Given the description of an element on the screen output the (x, y) to click on. 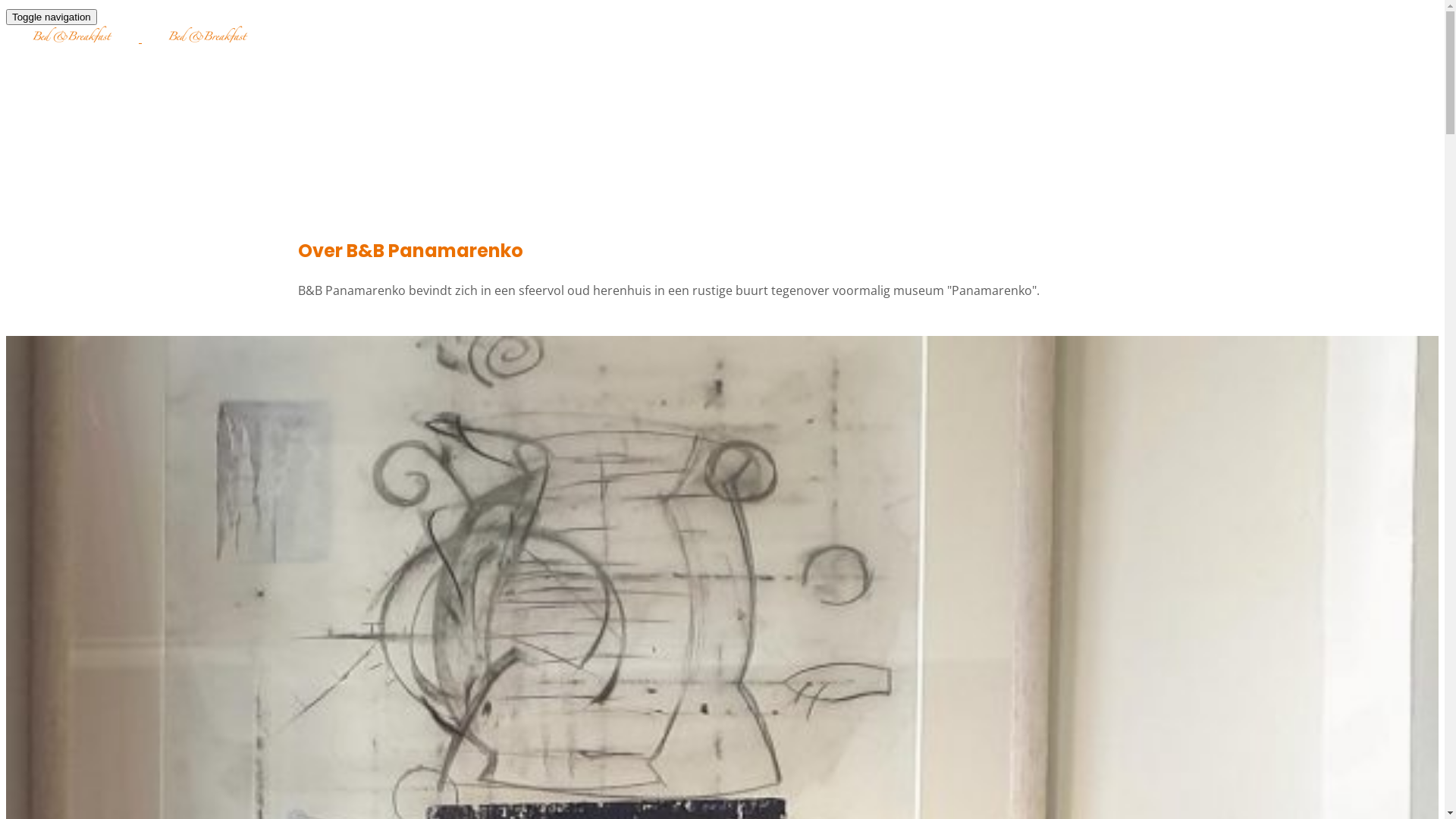
Toggle navigation Element type: text (51, 17)
